Given the description of an element on the screen output the (x, y) to click on. 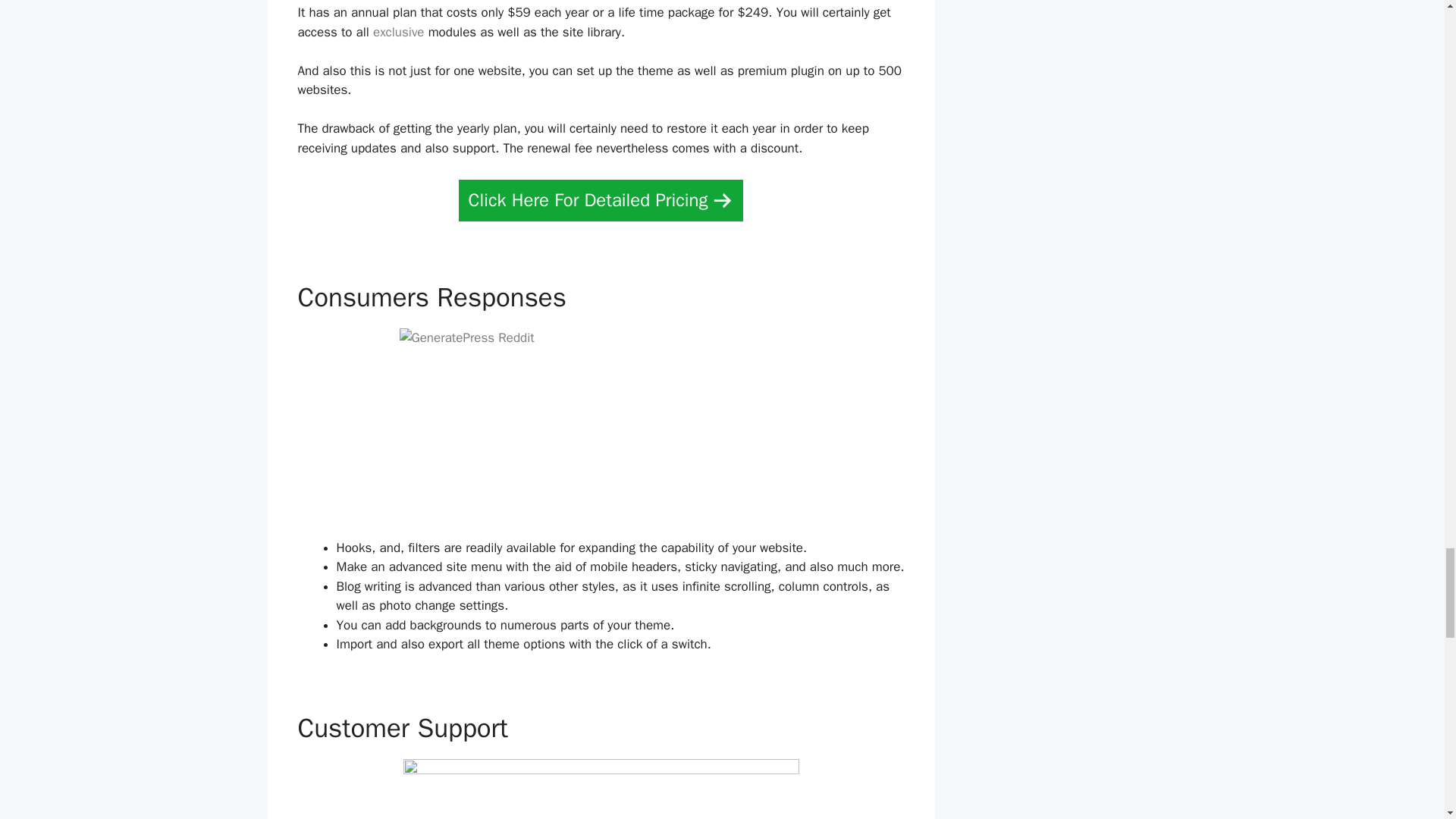
Click Here For Detailed Pricing (601, 200)
exclusive (398, 32)
